Given the description of an element on the screen output the (x, y) to click on. 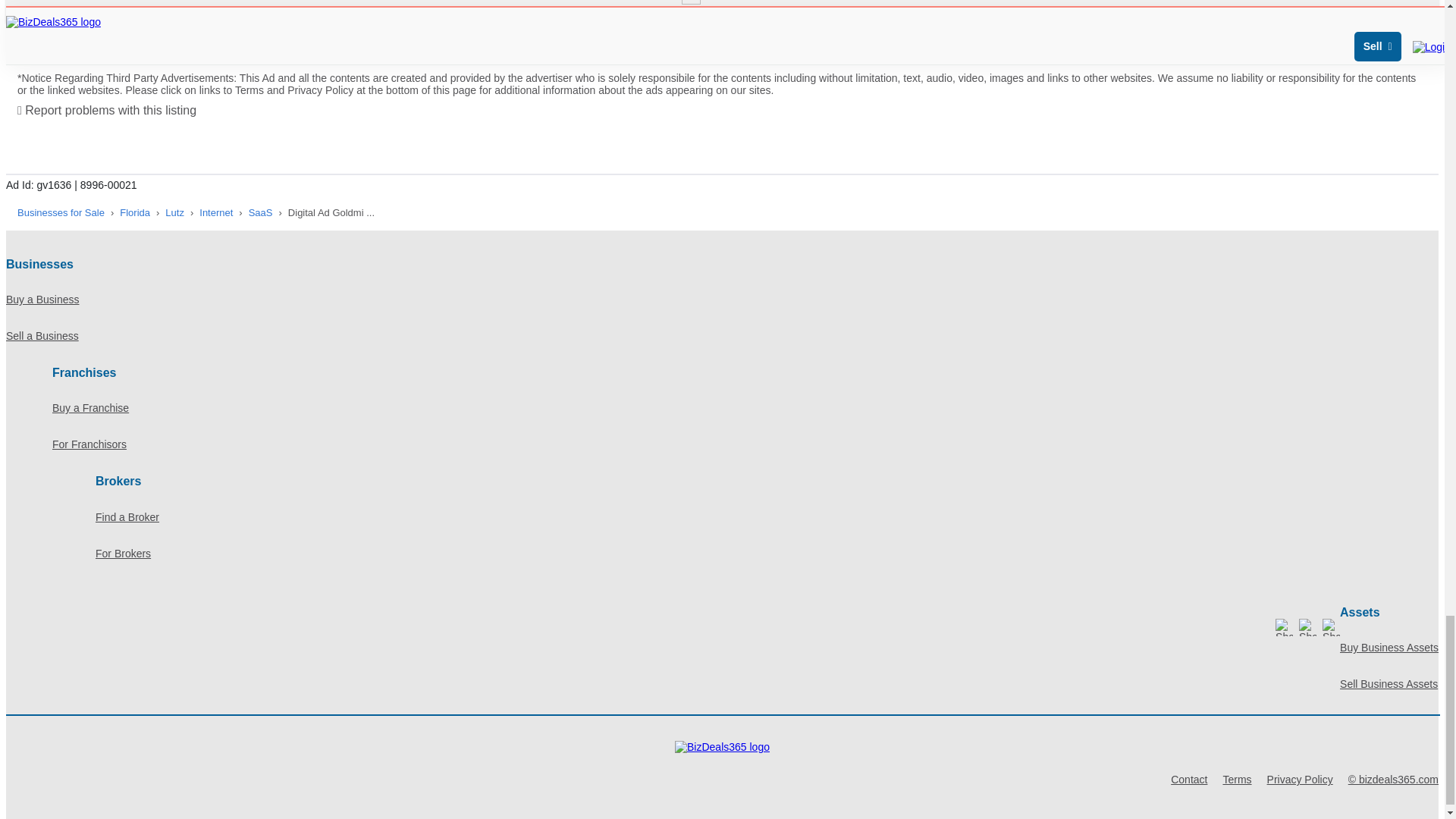
Lutz, FL SaaS For Sale (260, 212)
SaaS (260, 212)
Lutz (174, 212)
For Franchisors (745, 443)
Lutz, FL Online, Internet Businesses For Sale (215, 212)
Buy Business Assets (1388, 647)
Internet (215, 212)
Buy a Business (721, 299)
Businesses for Sale (60, 212)
Businesses For Sale In USA and Canada (60, 212)
Find a Broker (767, 516)
For Brokers (767, 553)
Buy a Franchise (745, 407)
Lutz, FL Businesses For Sale (174, 212)
